Given the description of an element on the screen output the (x, y) to click on. 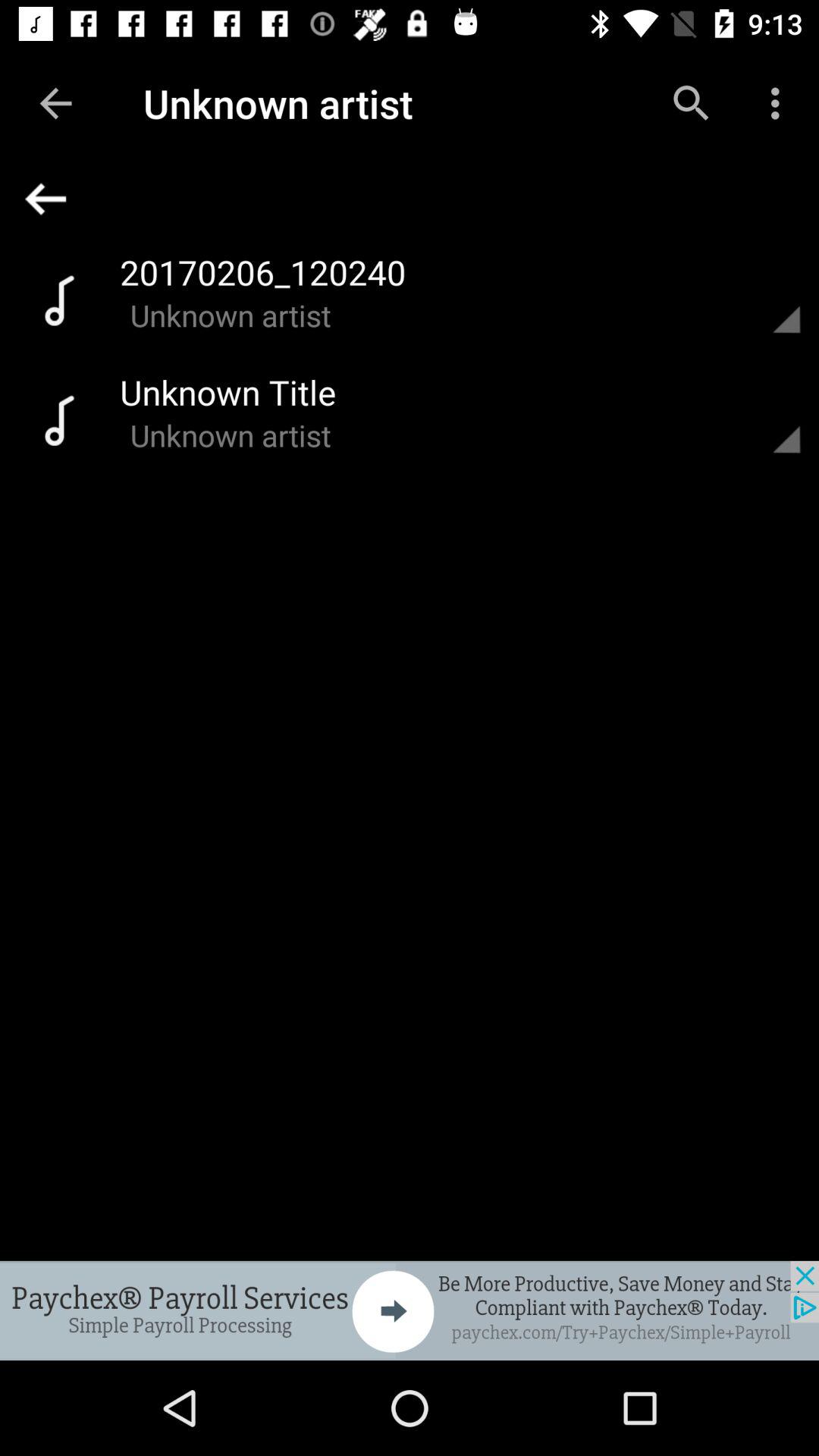
click on advertisement (409, 1310)
